Given the description of an element on the screen output the (x, y) to click on. 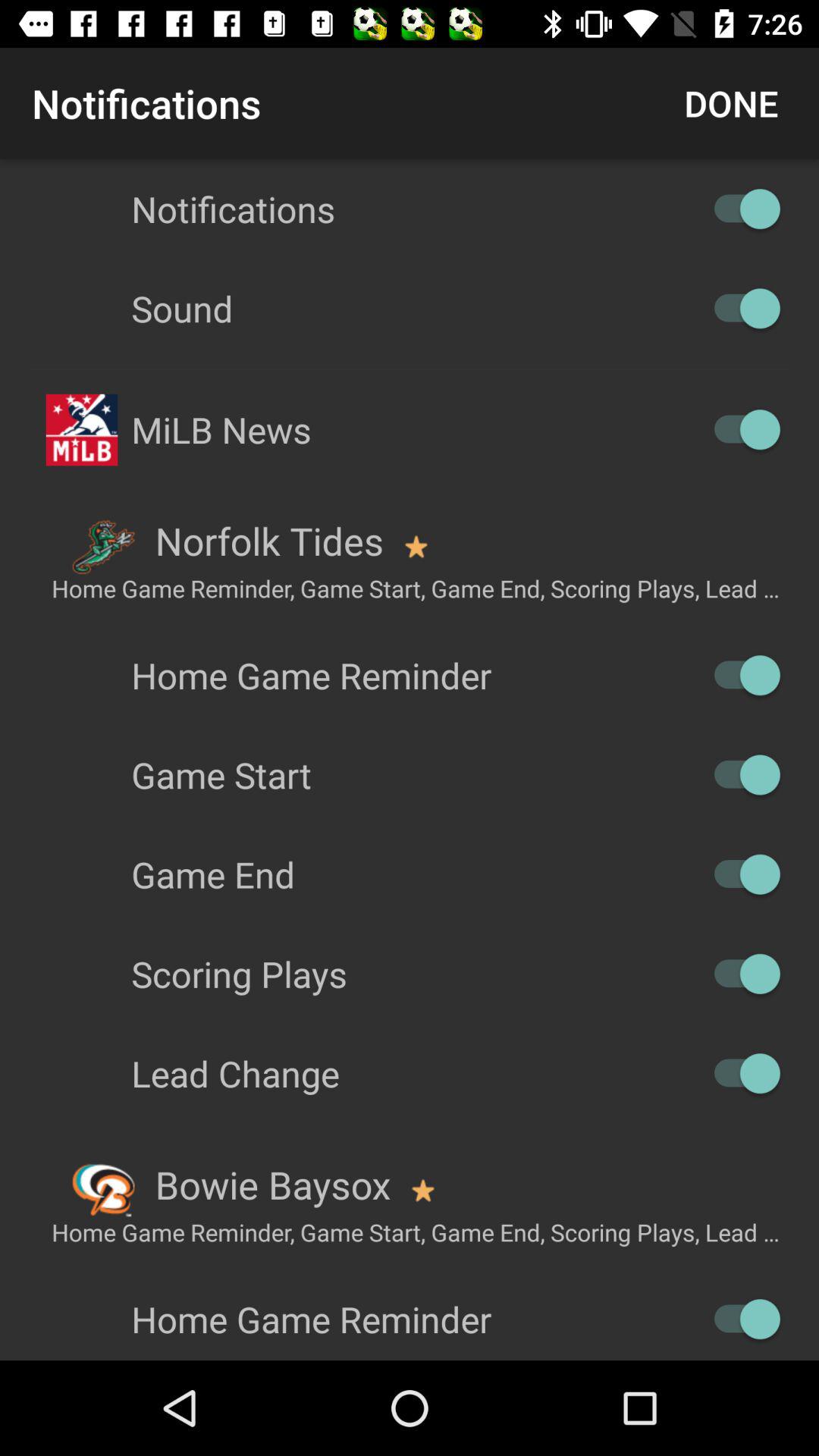
activate home game reminder (739, 675)
